Given the description of an element on the screen output the (x, y) to click on. 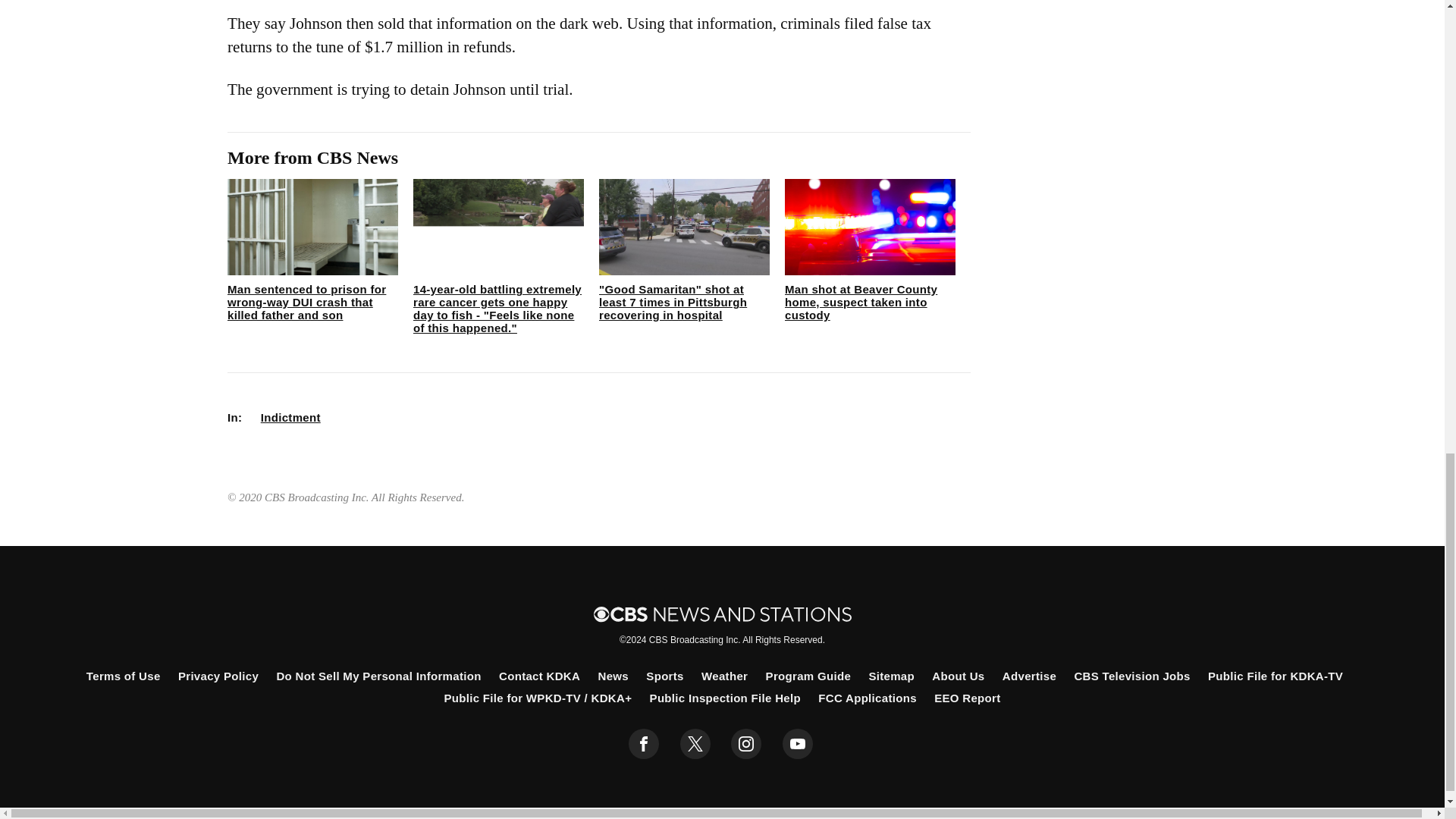
instagram (745, 743)
youtube (797, 743)
facebook (643, 743)
twitter (694, 743)
